Given the description of an element on the screen output the (x, y) to click on. 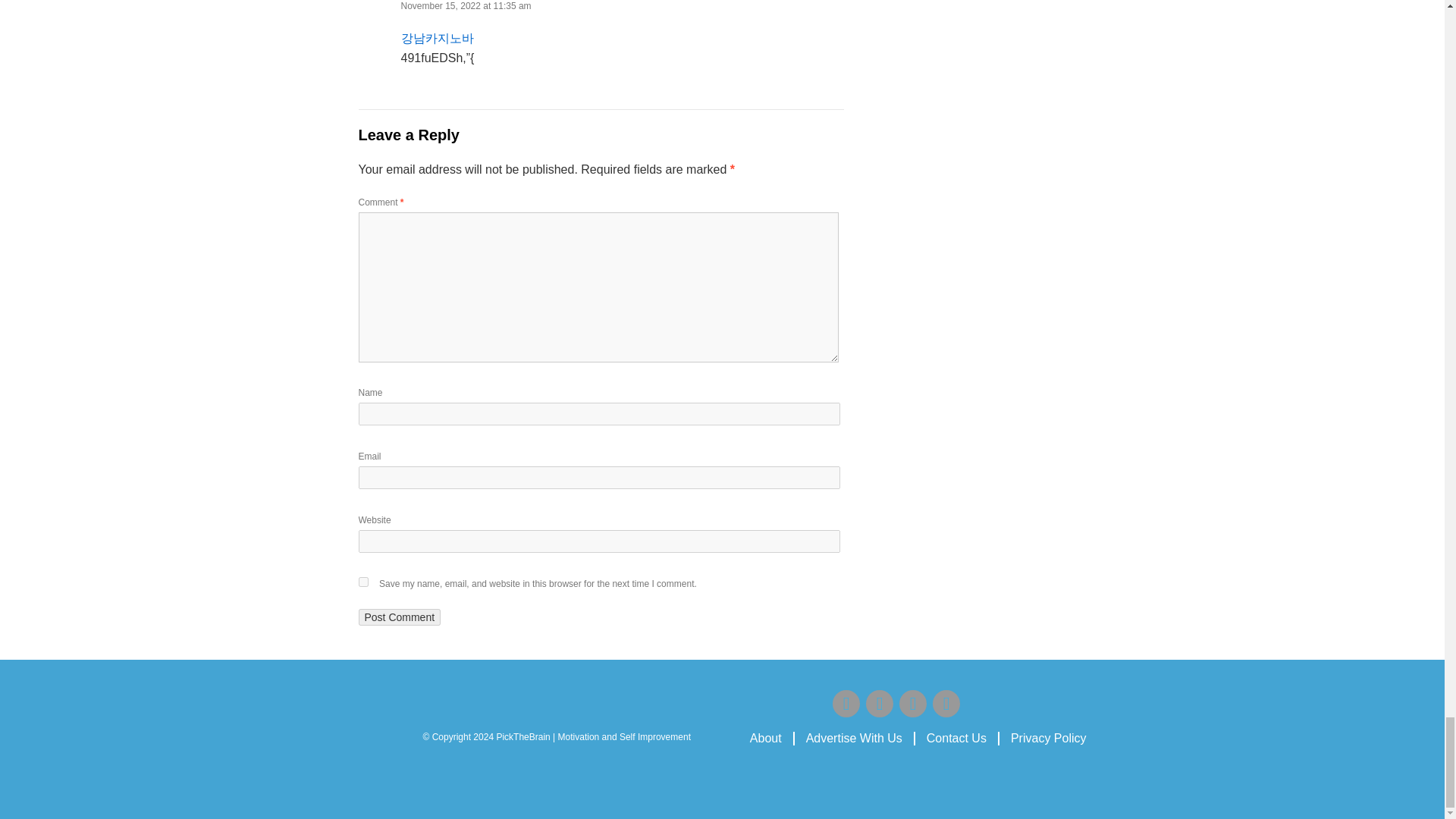
Instagram (879, 703)
Twitter (912, 703)
RSS (946, 703)
Facebook (846, 703)
Post Comment (399, 617)
yes (363, 582)
